Given the description of an element on the screen output the (x, y) to click on. 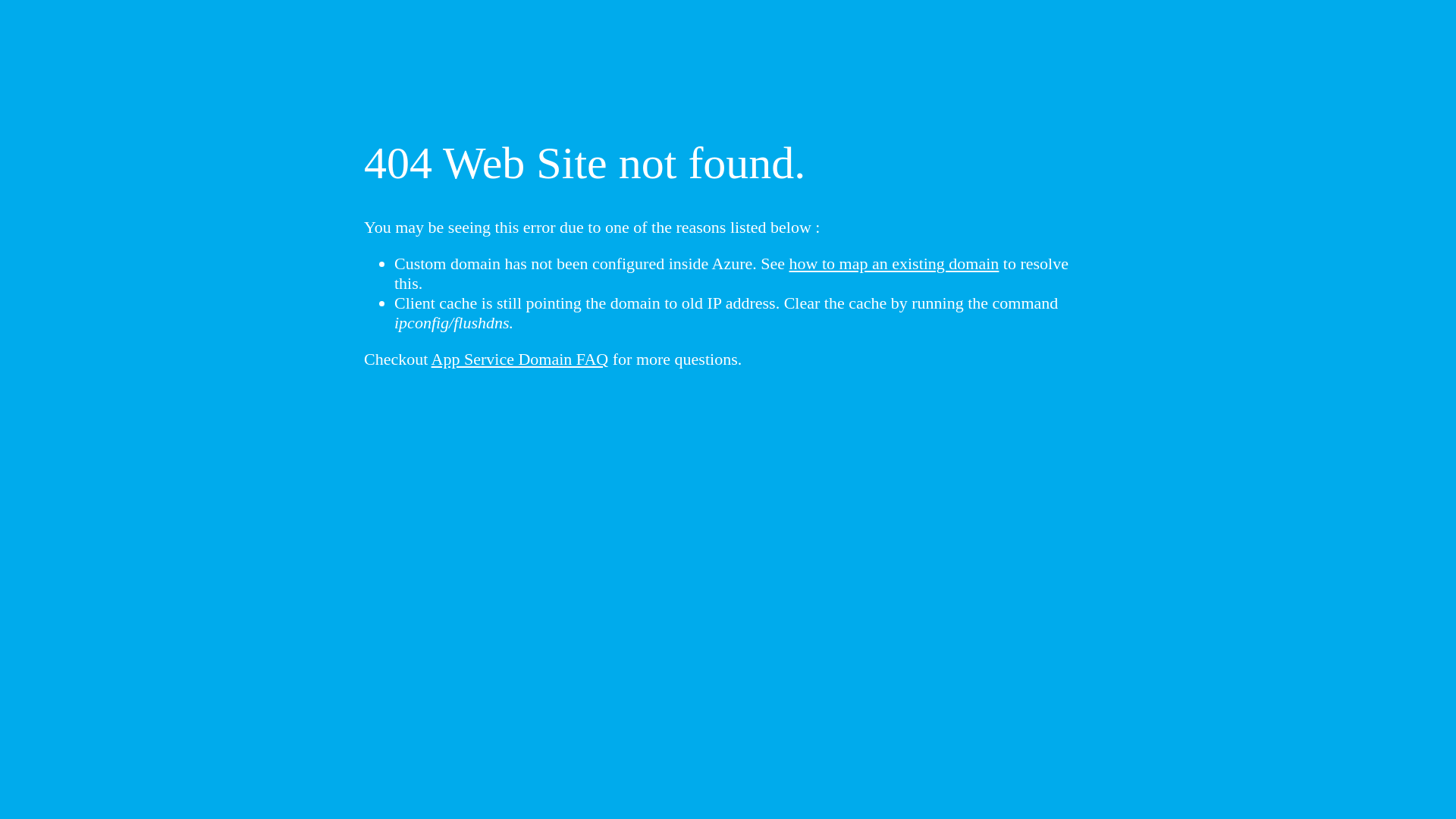
App Service Domain FAQ Element type: text (519, 358)
how to map an existing domain Element type: text (894, 263)
